Given the description of an element on the screen output the (x, y) to click on. 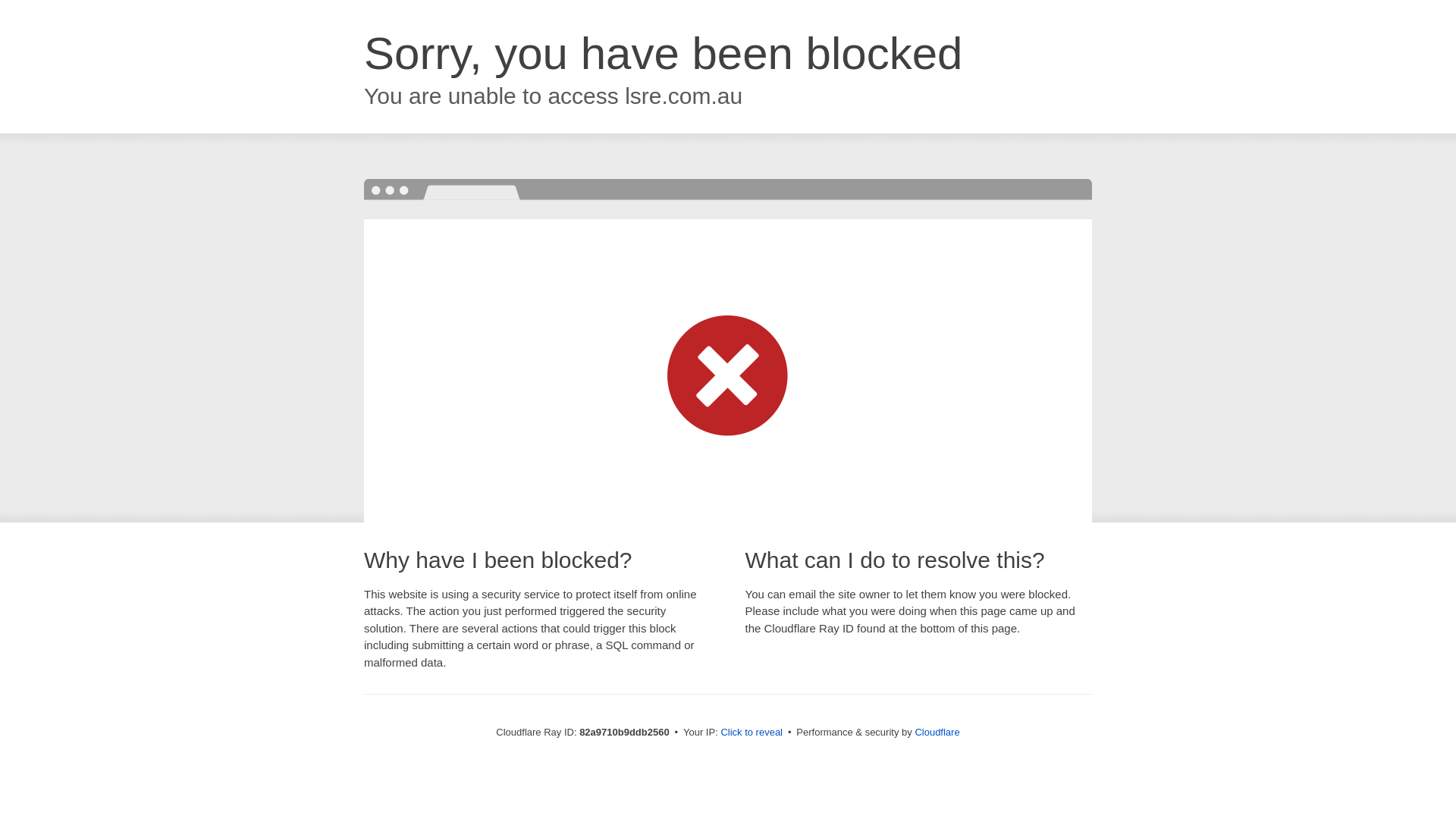
Click to reveal Element type: text (751, 732)
Cloudflare Element type: text (936, 731)
